Given the description of an element on the screen output the (x, y) to click on. 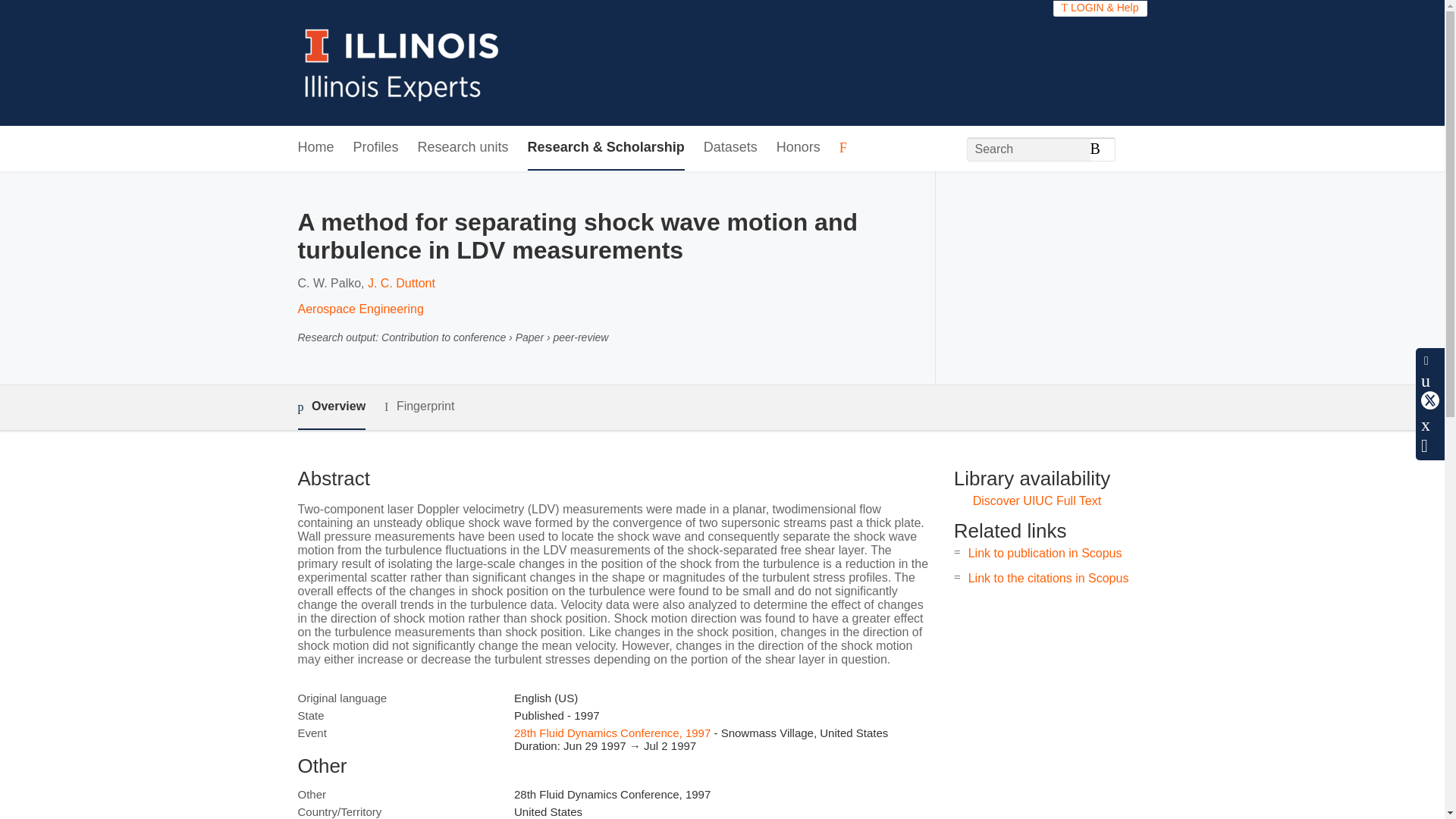
University of Illinois Urbana-Champaign Home (402, 62)
Datasets (730, 148)
Research units (462, 148)
Profiles (375, 148)
Overview (331, 406)
Link to publication in Scopus (1045, 553)
Link to the citations in Scopus (1048, 577)
Discover UIUC Full Text (1037, 500)
Honors (798, 148)
